Given the description of an element on the screen output the (x, y) to click on. 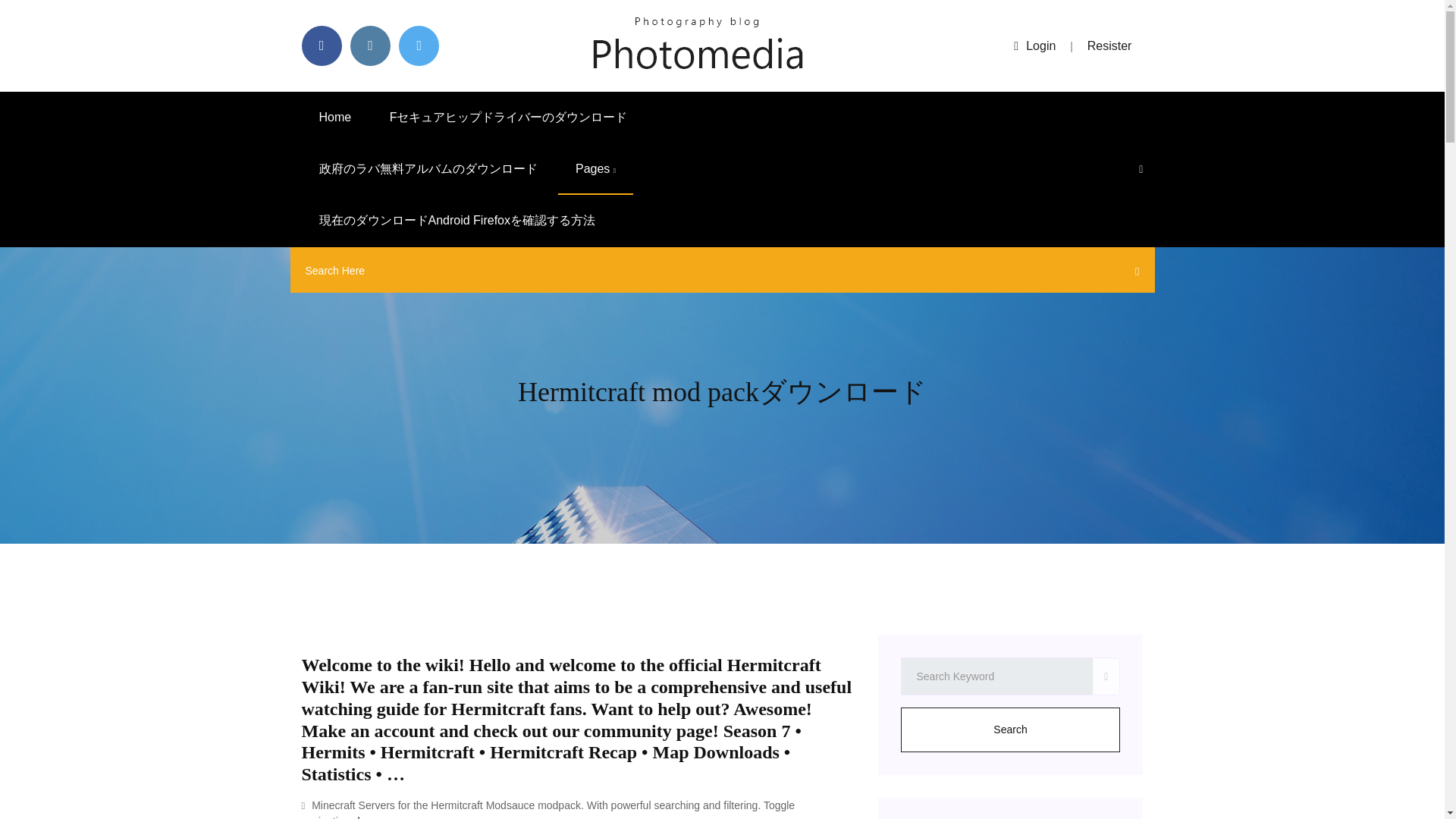
Login (1034, 45)
Pages (595, 168)
Home (335, 117)
Resister (1109, 45)
